Given the description of an element on the screen output the (x, y) to click on. 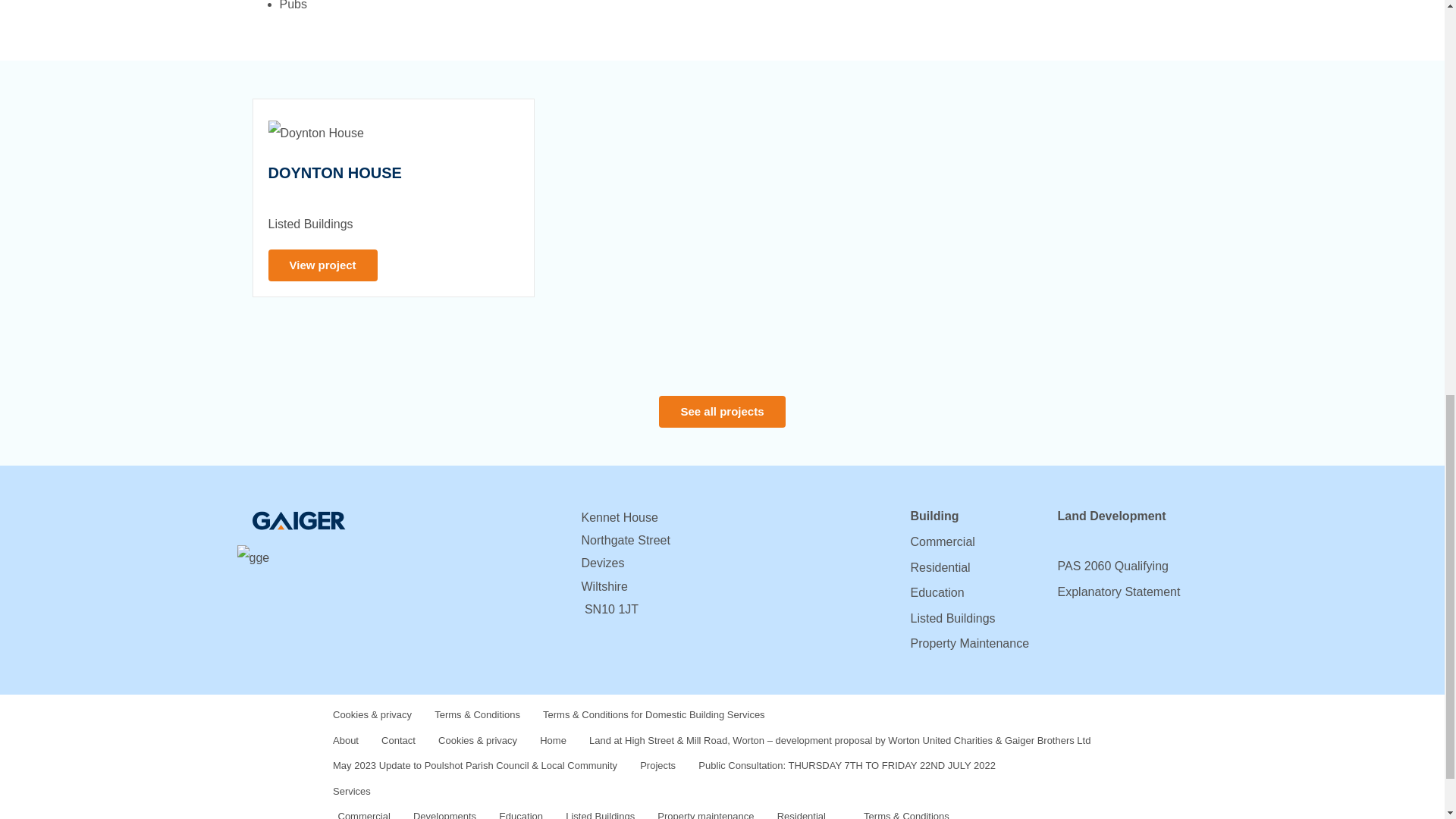
Doynton House (334, 172)
Residential (939, 567)
Public Consultation: THURSDAY 7TH TO FRIDAY 22ND JULY 2022 (846, 765)
Land Development (1111, 515)
Building (934, 515)
Property Maintenance (969, 643)
Doynton House (322, 265)
Listed Buildings (952, 617)
Services (587, 791)
Projects (657, 765)
